Given the description of an element on the screen output the (x, y) to click on. 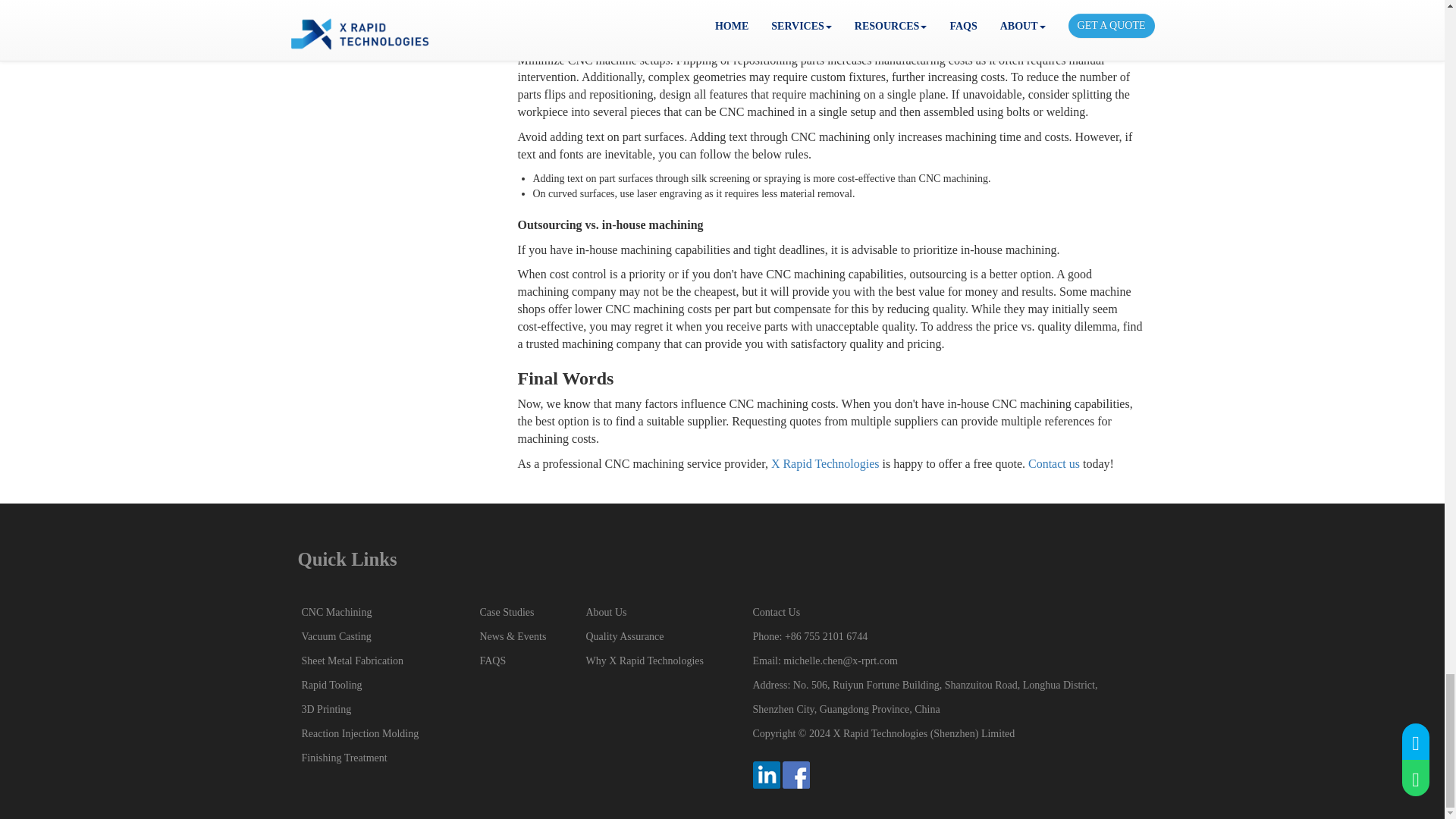
Contact us (1053, 462)
CNC Machining (336, 612)
X Rapid Technologies (825, 462)
Vacuum Casting (336, 636)
